Given the description of an element on the screen output the (x, y) to click on. 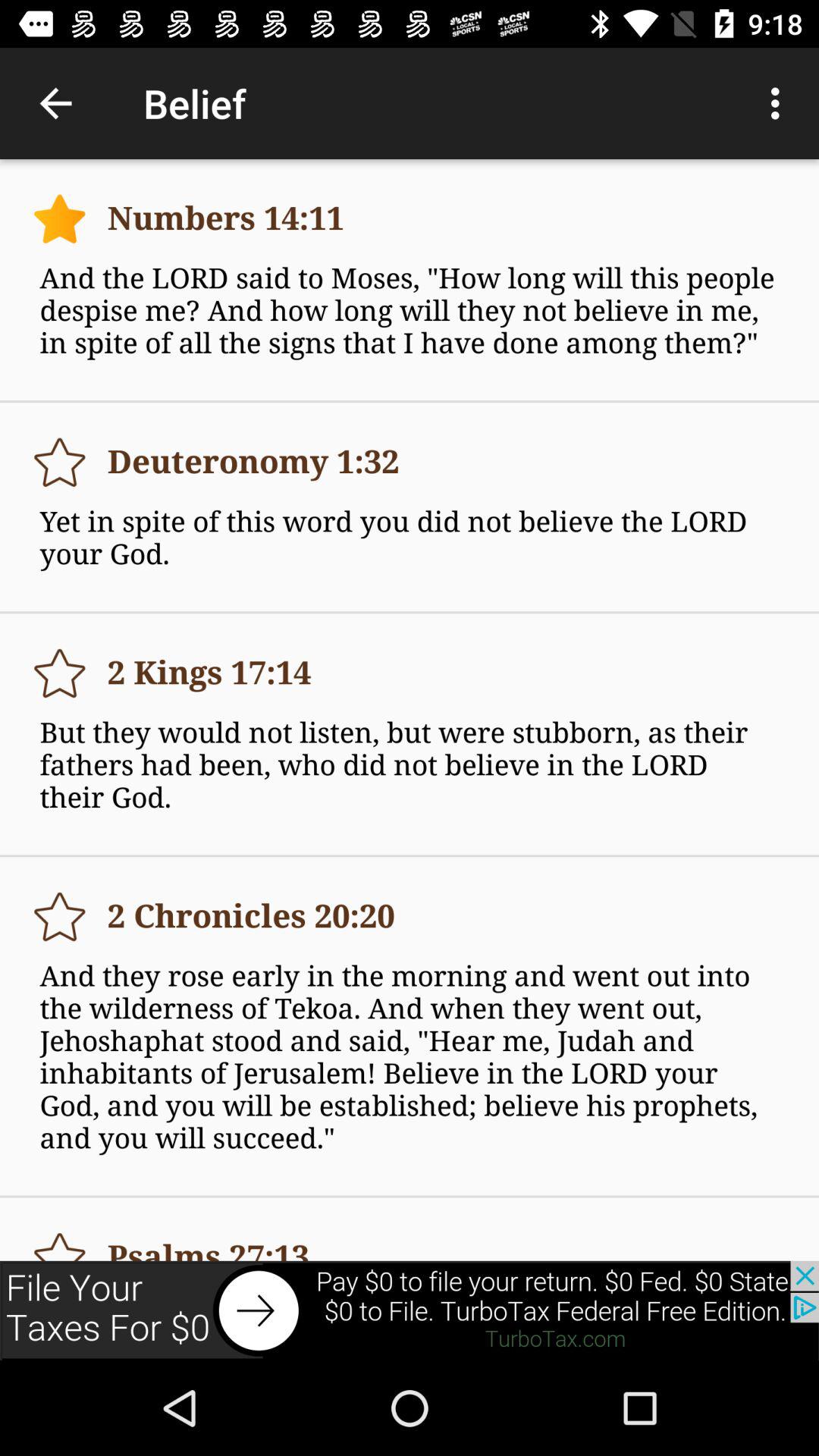
review (59, 916)
